Given the description of an element on the screen output the (x, y) to click on. 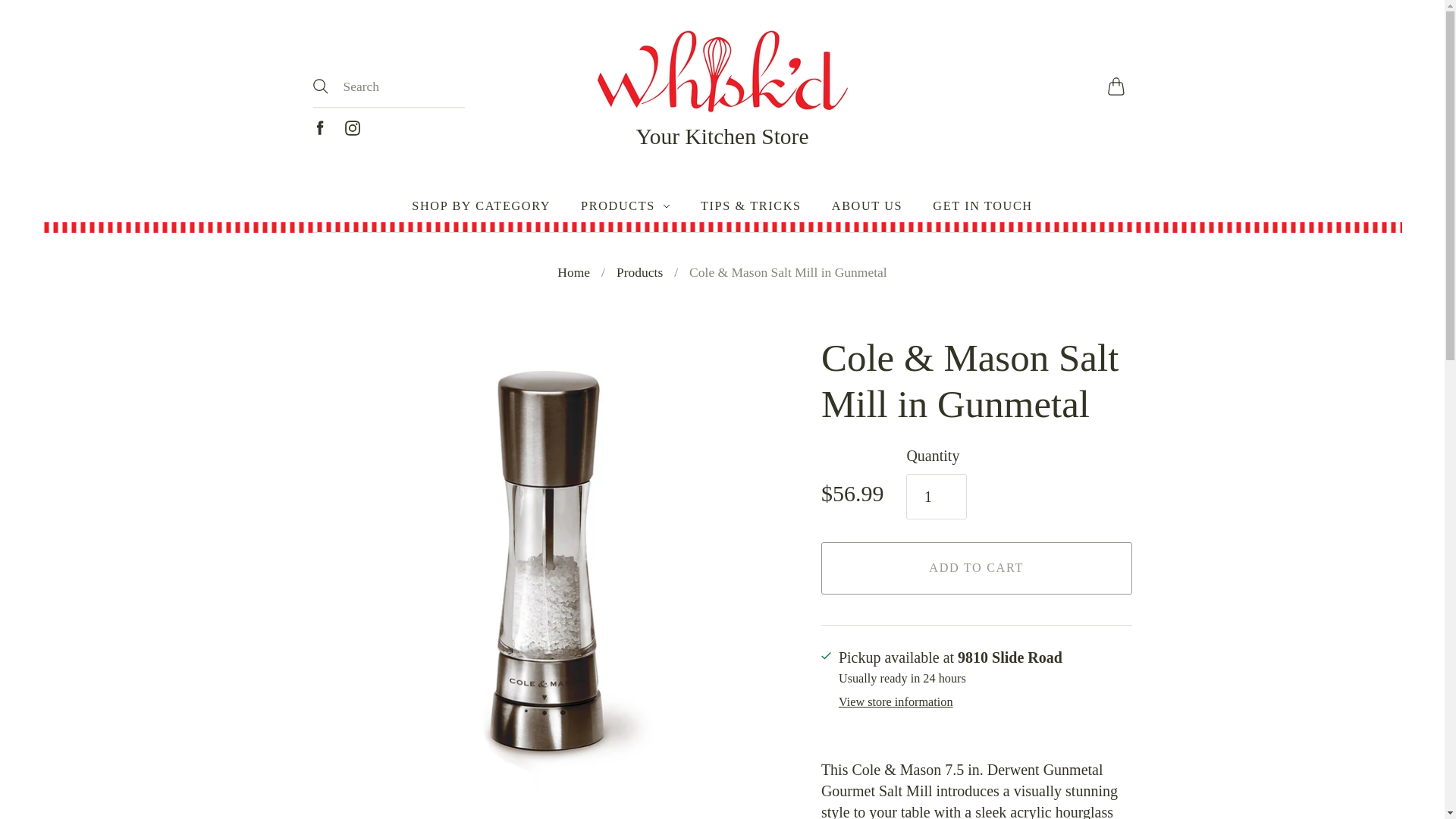
SHOP BY CATEGORY (481, 206)
Cart (1118, 86)
GET IN TOUCH (982, 206)
1 (935, 496)
ABOUT US (866, 206)
